Given the description of an element on the screen output the (x, y) to click on. 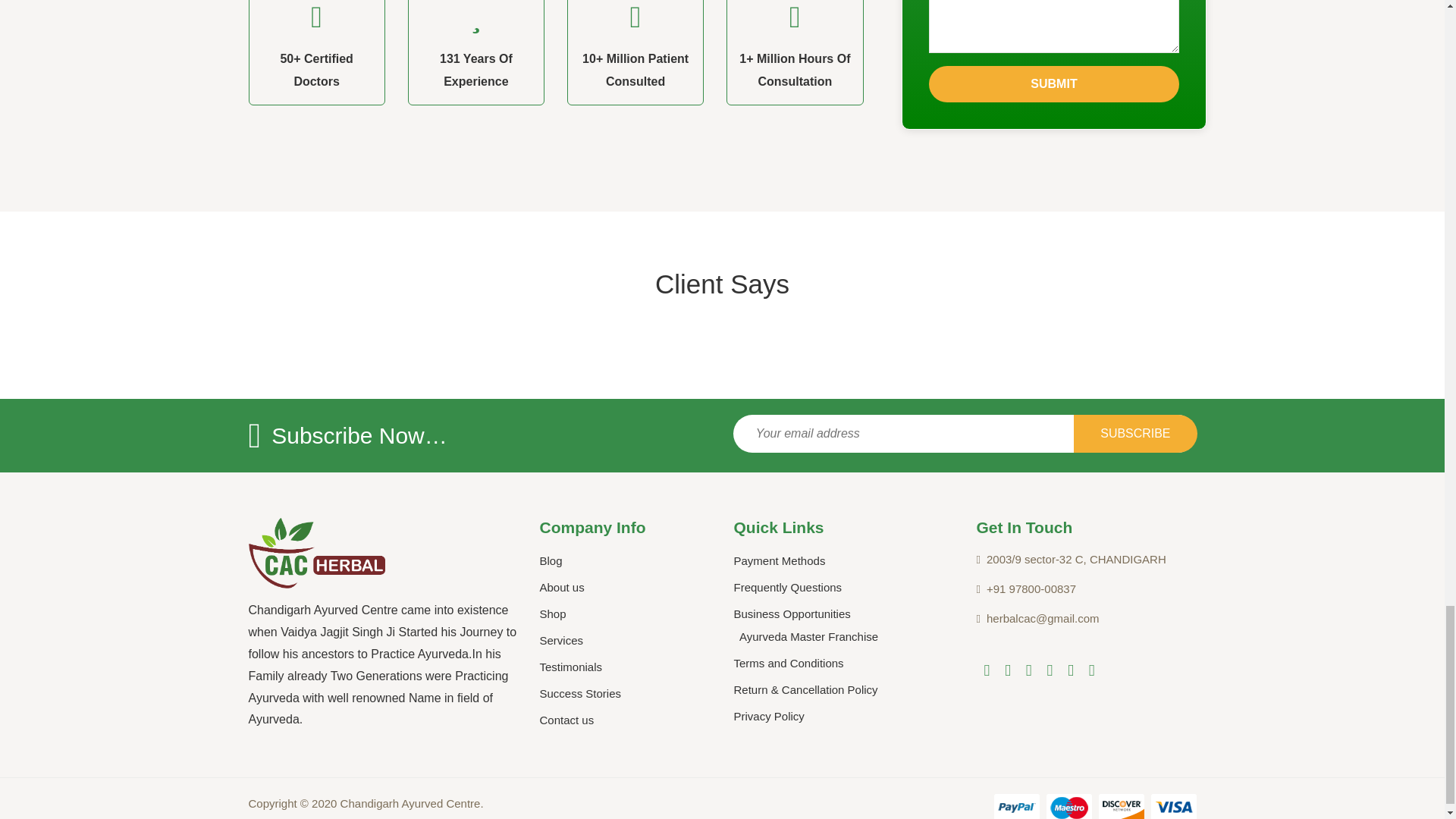
Blog (551, 560)
About us (562, 586)
Submit (1053, 84)
Services (561, 640)
subscribe (1135, 433)
Shop (553, 613)
Submit (1053, 84)
Contact us (567, 719)
subscribe (1135, 433)
Success Stories (580, 693)
